Given the description of an element on the screen output the (x, y) to click on. 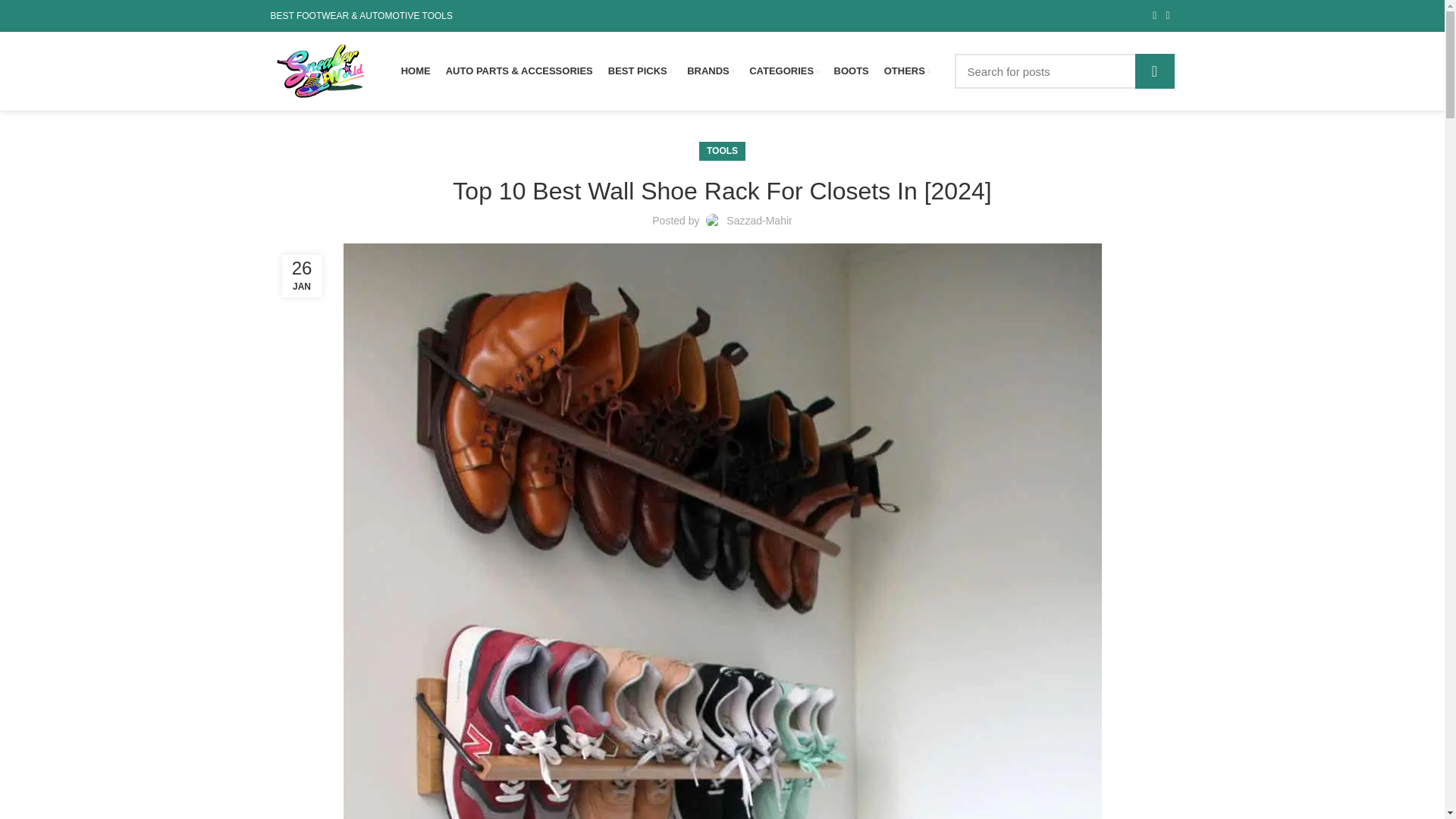
Search for posts (1063, 71)
BEST PICKS (639, 71)
HOME (415, 71)
